Given the description of an element on the screen output the (x, y) to click on. 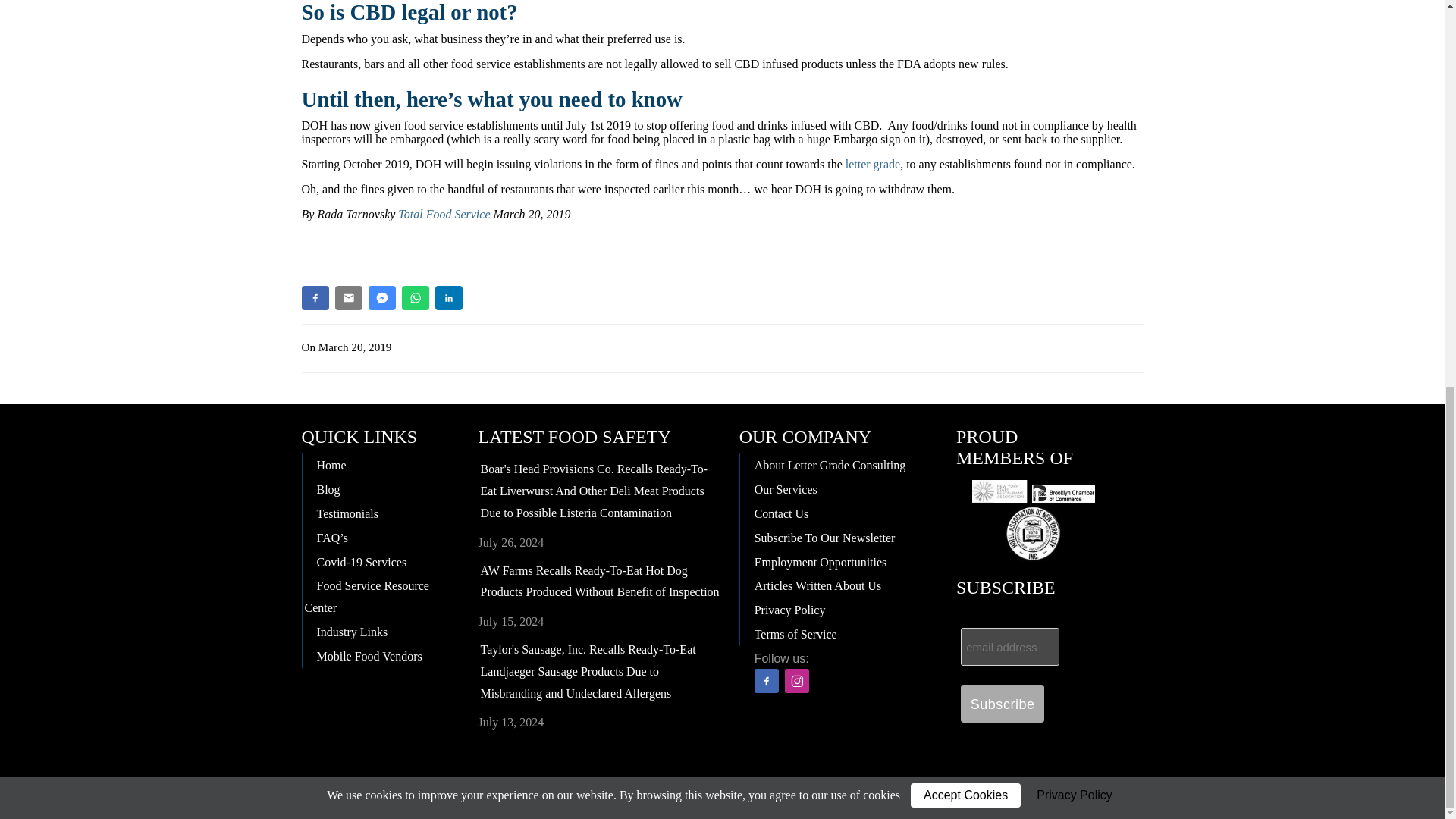
Subscribe (1001, 703)
Industry Links (381, 631)
Home (381, 464)
LATEST FOOD SAFETY (575, 436)
letter grade (872, 164)
Testimonials (381, 513)
Total Food Service (443, 214)
Food Service Resource Center (381, 596)
Covid-19 Services (381, 561)
Mobile Food Vendors (381, 655)
Blog (381, 488)
